Given the description of an element on the screen output the (x, y) to click on. 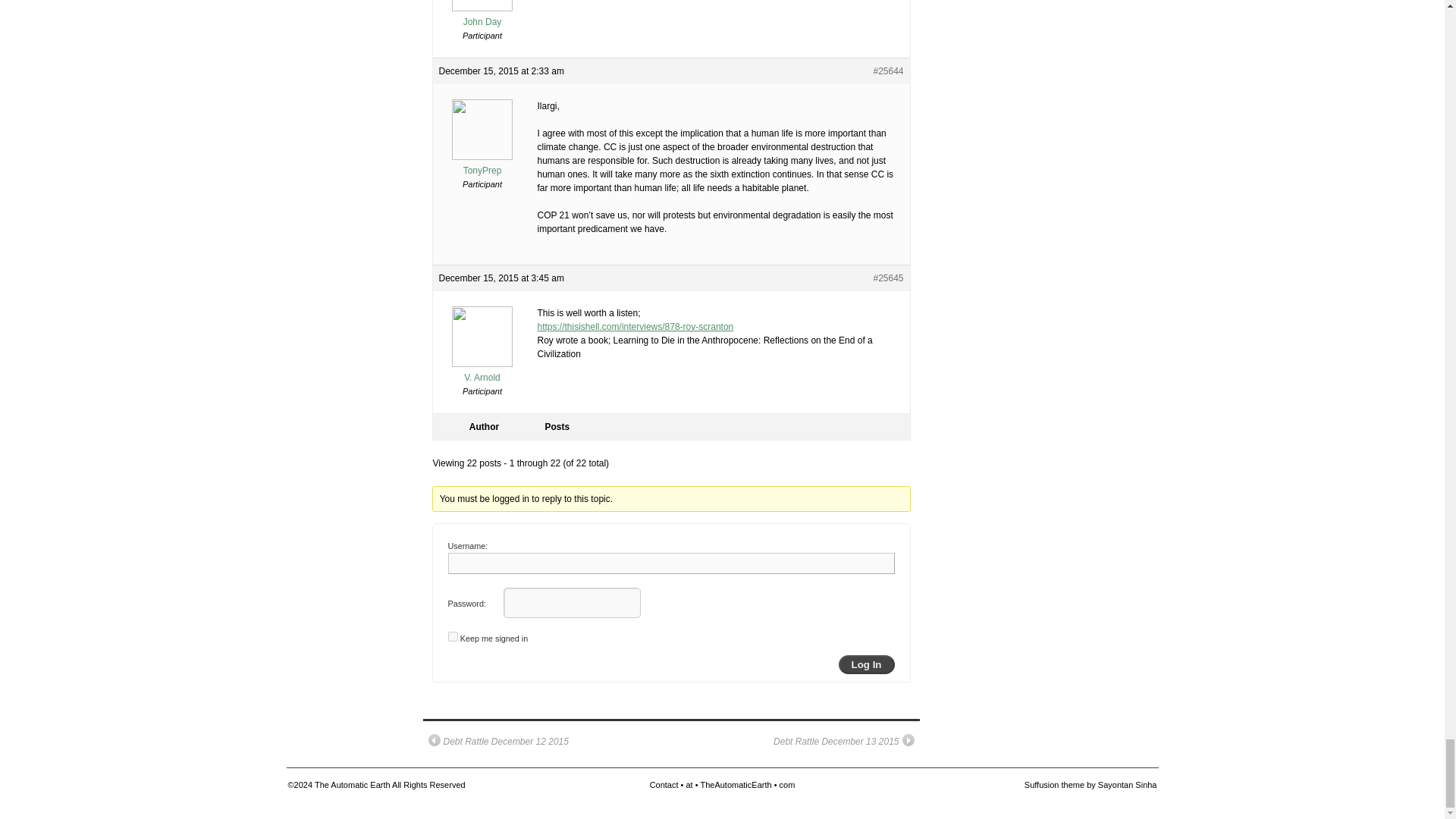
forever (451, 636)
